Given the description of an element on the screen output the (x, y) to click on. 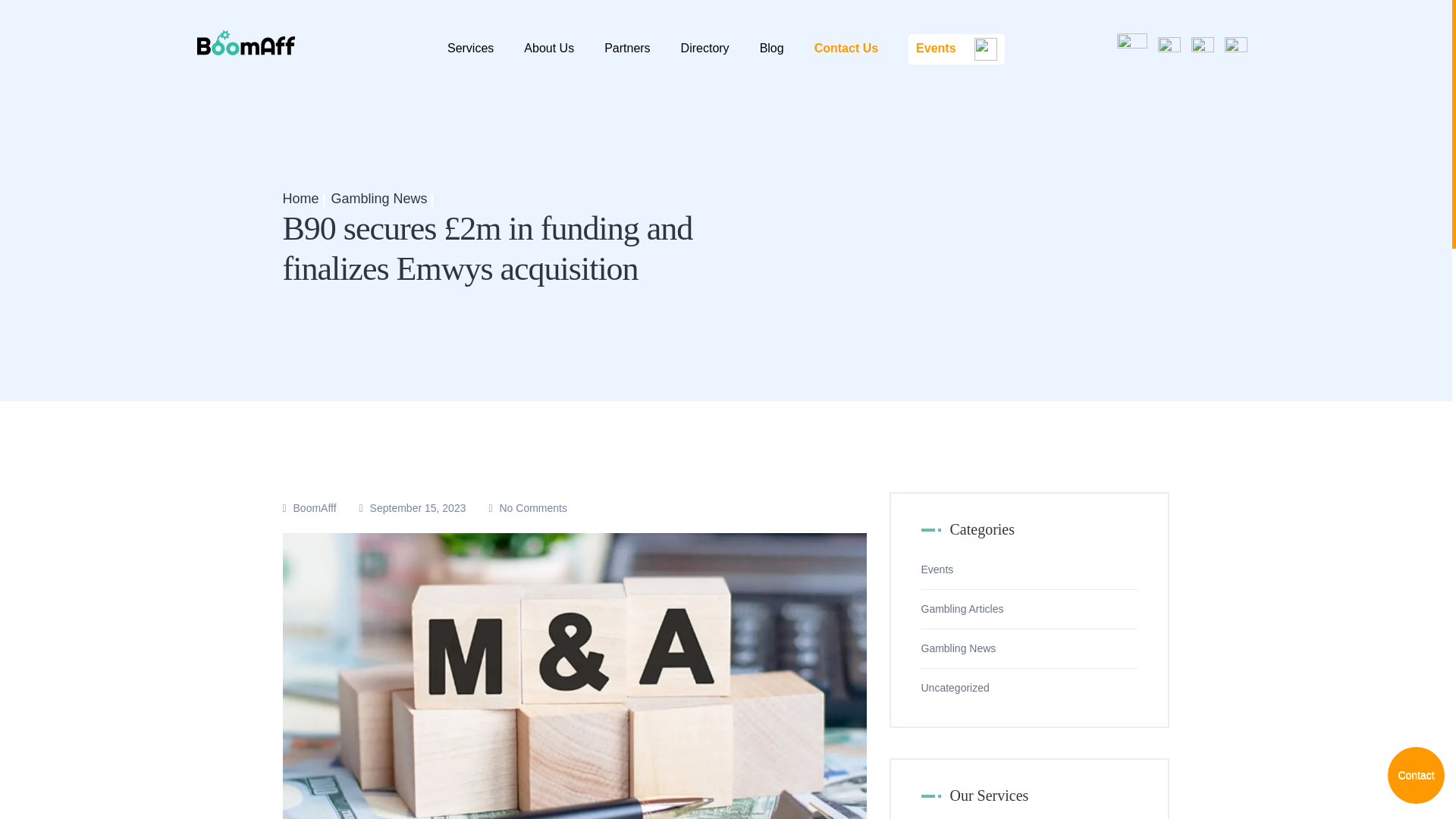
Events (956, 49)
